Given the description of an element on the screen output the (x, y) to click on. 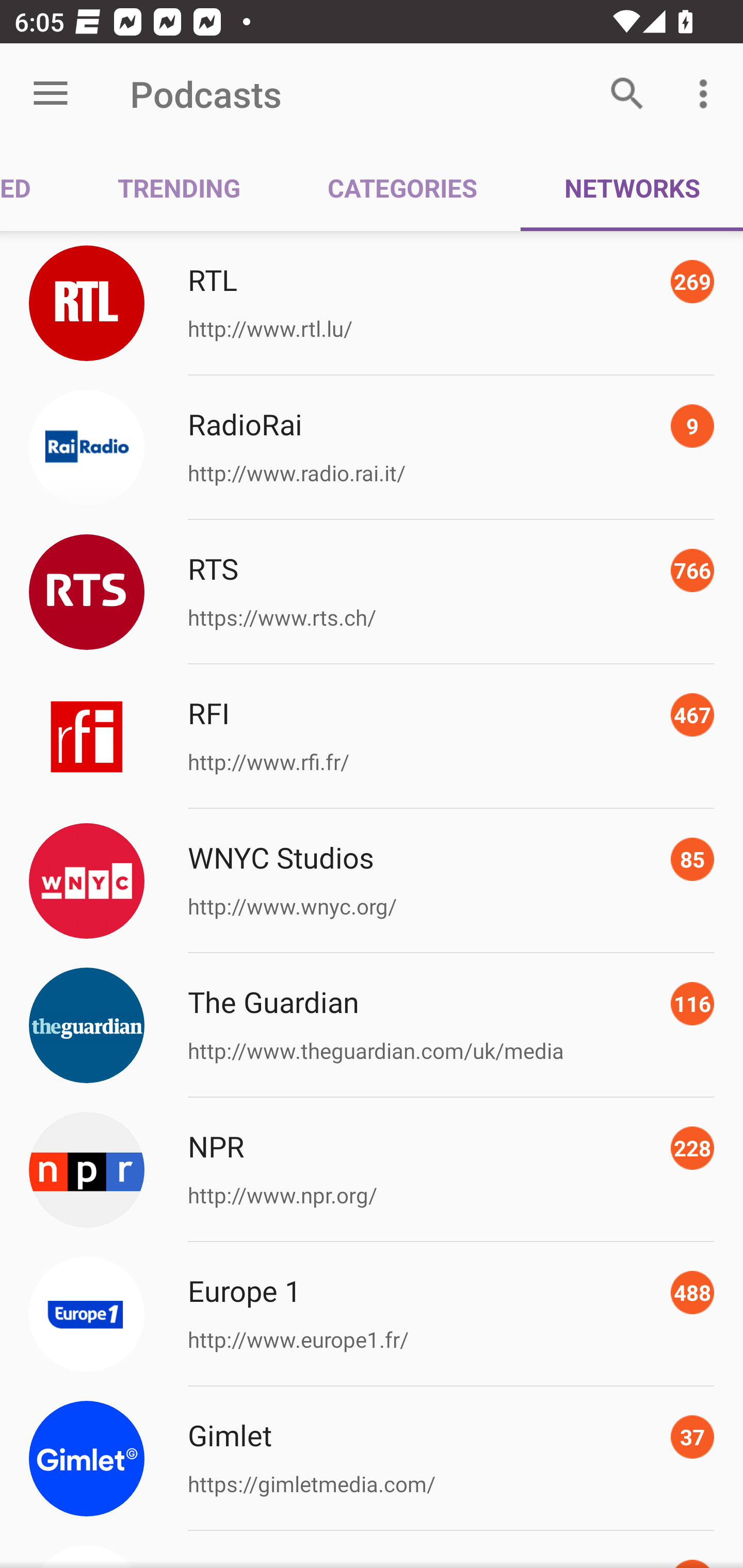
Open menu (50, 93)
Search (626, 93)
More options (706, 93)
TRENDING (178, 187)
CATEGORIES (401, 187)
NETWORKS (631, 187)
Picture RTL 269 http://www.rtl.lu/ (371, 302)
Picture RadioRai 9 http://www.radio.rai.it/ (371, 447)
Picture RTS 766 https://www.rts.ch/ (371, 592)
Picture RFI 467 http://www.rfi.fr/ (371, 736)
Picture WNYC Studios 85 http://www.wnyc.org/ (371, 881)
Picture NPR 228 http://www.npr.org/ (371, 1169)
Picture Europe 1 488 http://www.europe1.fr/ (371, 1313)
Picture Gimlet 37 https://gimletmedia.com/ (371, 1458)
